Given the description of an element on the screen output the (x, y) to click on. 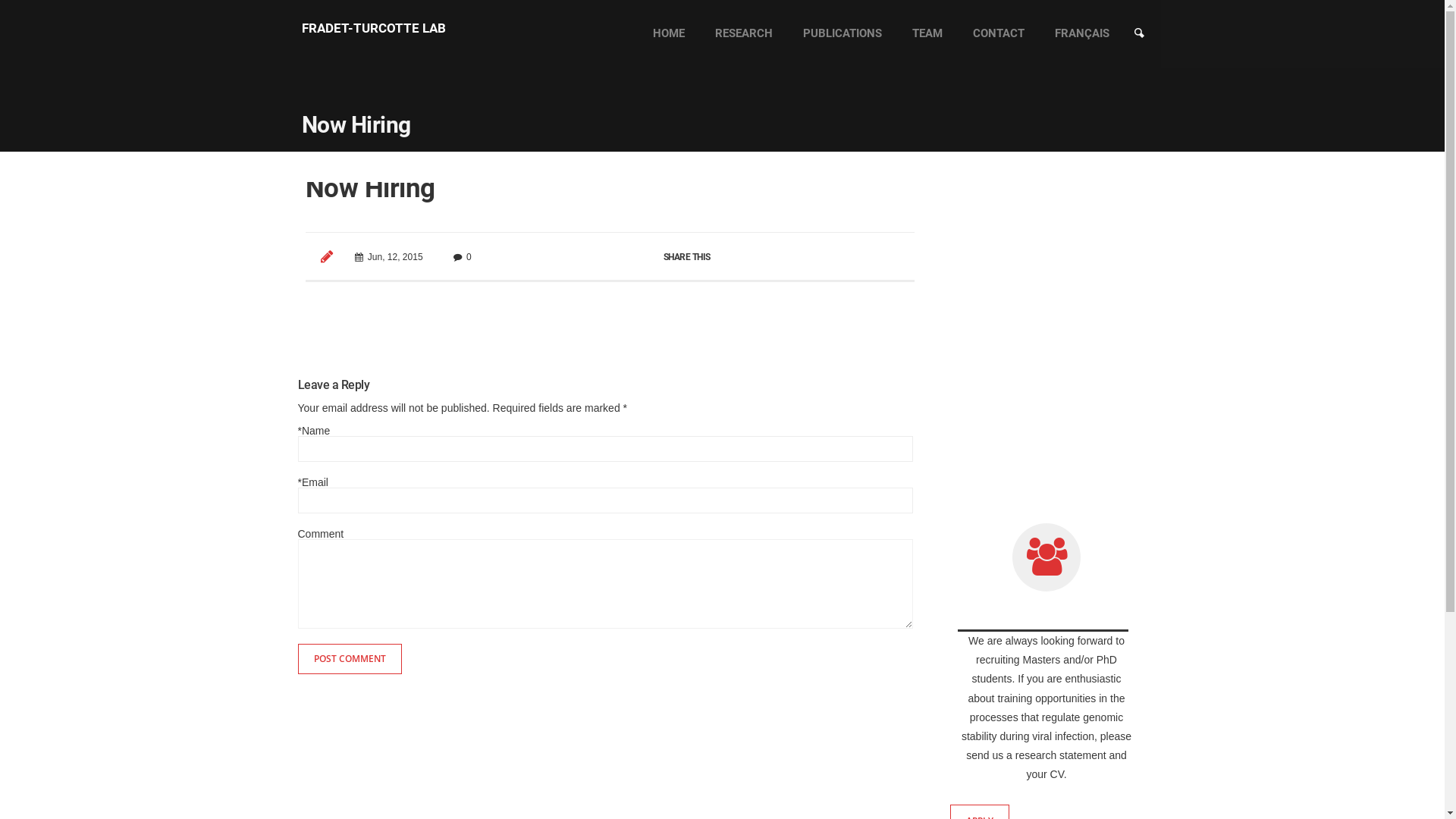
Twitter Tweet Button Element type: hover (823, 305)
RESEARCH Element type: text (743, 34)
POST COMMENT Element type: text (349, 658)
CONTACT Element type: text (997, 34)
Post Comment Element type: text (307, 16)
+1 Element type: hover (887, 305)
HOME Element type: text (668, 34)
FRADET-TURCOTTE LAB Element type: text (373, 27)
Now Hiring Element type: text (369, 187)
TEAM Element type: text (926, 34)
PUBLICATIONS Element type: text (841, 34)
